Given the description of an element on the screen output the (x, y) to click on. 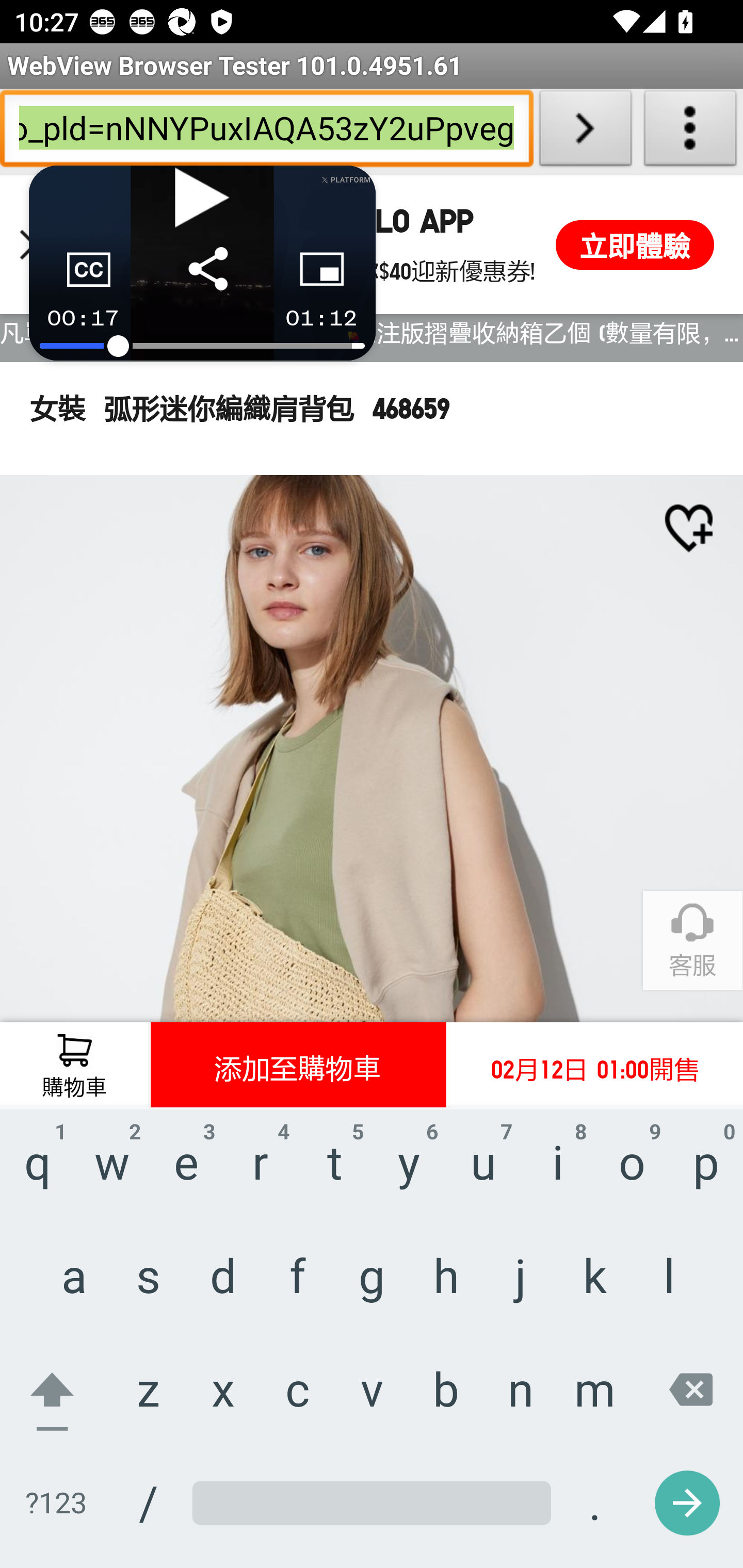
Load URL (585, 132)
About WebView (690, 132)
立即體驗 (634, 244)
add to favorites (688, 528)
v5RSjKMREmGkfglMv4DtSnrpZtfmXAAAAAASUVORK5CYII= 客服 (692, 940)
購物車 (74, 1066)
添加至購物車 (297, 1066)
02月12日 01:00開售 (594, 1066)
